Given the description of an element on the screen output the (x, y) to click on. 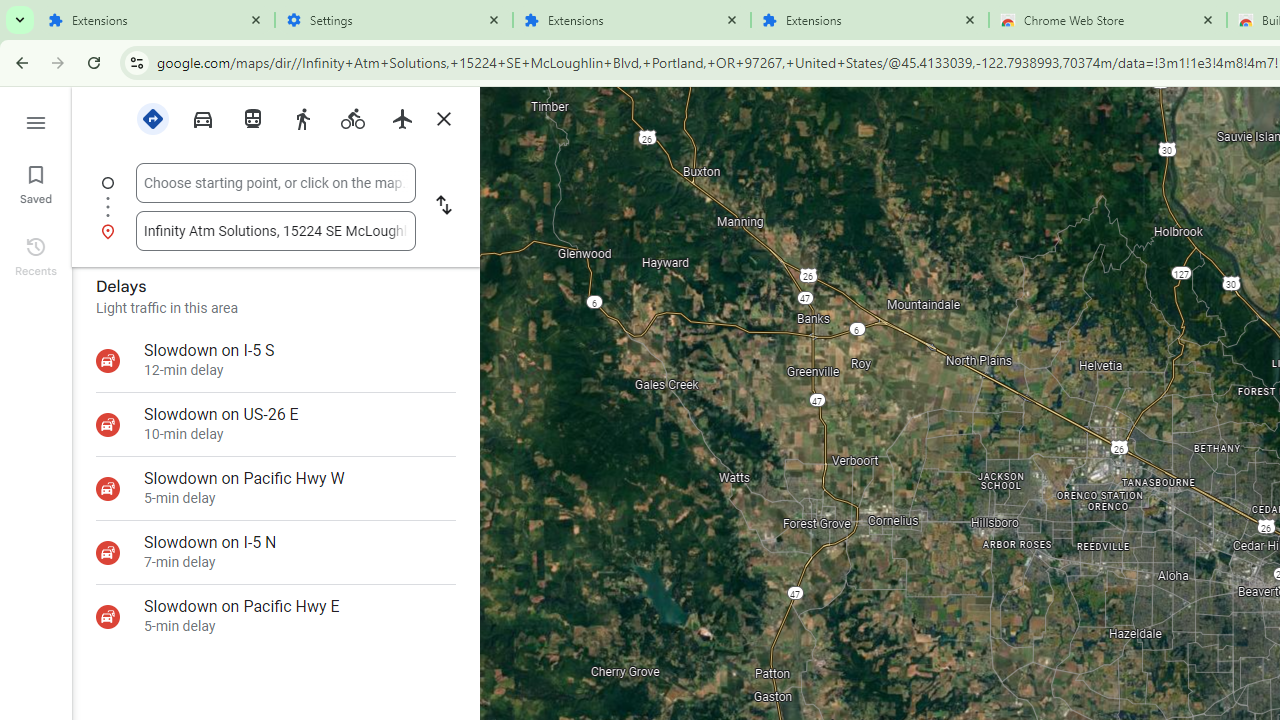
Flights (402, 117)
Best travel modes (152, 119)
Extensions (156, 20)
Walking (302, 117)
Driving (202, 117)
Transit (252, 117)
Close directions (443, 119)
Driving (202, 119)
